Given the description of an element on the screen output the (x, y) to click on. 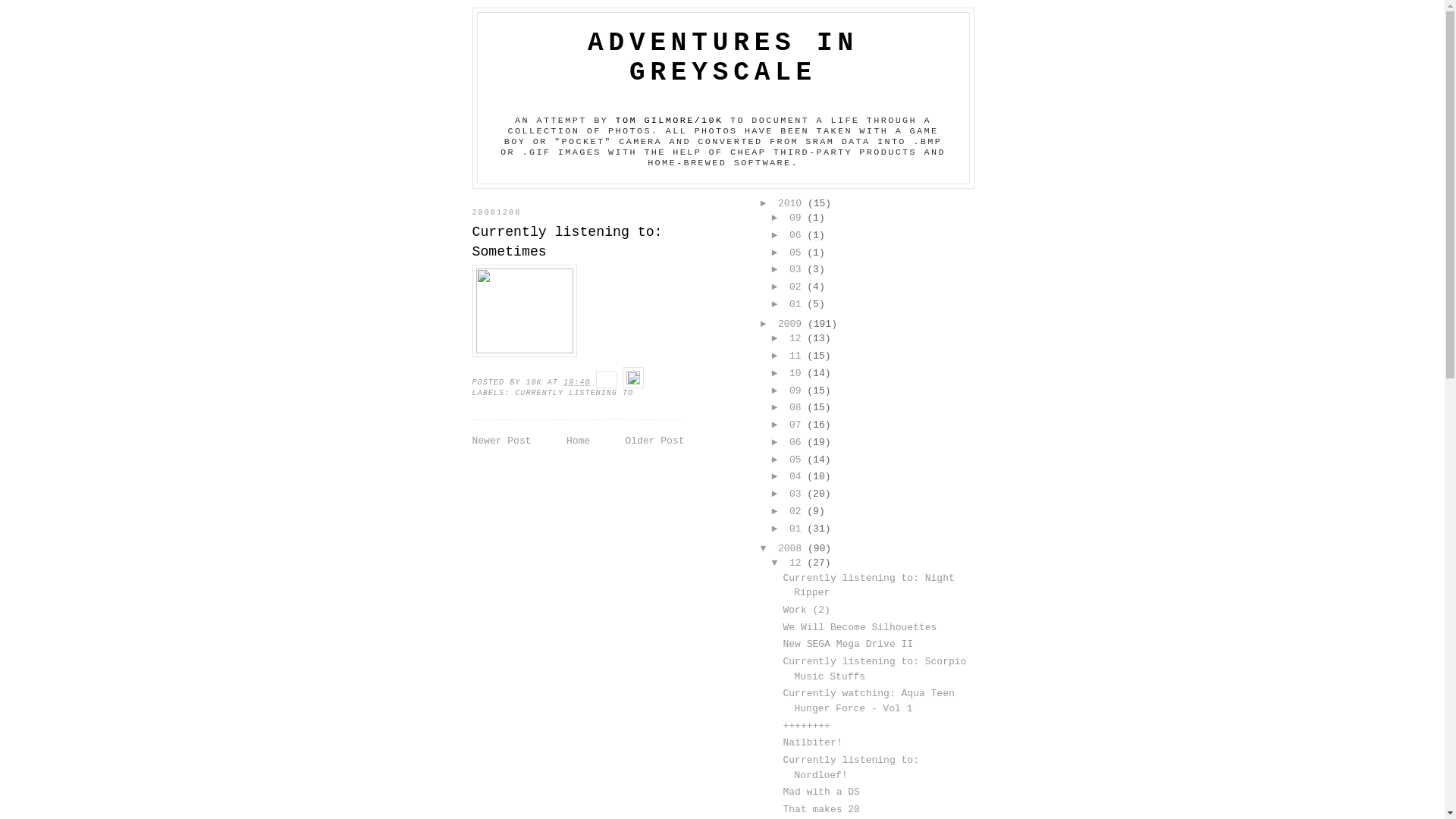
07 Element type: text (797, 424)
CURRENTLY LISTENING TO Element type: text (573, 393)
02 Element type: text (797, 511)
19:40 Element type: text (576, 382)
Nailbiter! Element type: text (811, 742)
That makes 20 Element type: text (820, 809)
02 Element type: text (797, 286)
++++++++ Element type: text (805, 725)
Email Post Element type: hover (609, 382)
12 Element type: text (797, 338)
10K Element type: text (535, 382)
09 Element type: text (797, 390)
06 Element type: text (797, 442)
Work (2) Element type: text (805, 609)
01 Element type: text (797, 528)
03 Element type: text (797, 269)
Currently listening to: Scorpio Music Stuffs Element type: text (874, 668)
Currently listening to: Nordloef! Element type: text (850, 767)
2009 Element type: text (792, 323)
2010 Element type: text (792, 203)
10 Element type: text (797, 373)
09 Element type: text (797, 217)
Older Post Element type: text (654, 440)
08 Element type: text (797, 407)
05 Element type: text (797, 459)
Newer Post Element type: text (500, 440)
New SEGA Mega Drive II Element type: text (847, 643)
ADVENTURES IN GREYSCALE Element type: text (722, 57)
12 Element type: text (797, 562)
Edit Post Element type: hover (632, 382)
03 Element type: text (797, 493)
We Will Become Silhouettes Element type: text (859, 627)
2008 Element type: text (792, 548)
01 Element type: text (797, 304)
05 Element type: text (797, 252)
Currently watching: Aqua Teen Hunger Force - Vol 1 Element type: text (867, 700)
04 Element type: text (797, 476)
11 Element type: text (797, 355)
Home Element type: text (577, 440)
Currently listening to: Night Ripper Element type: text (867, 585)
TOM GILMORE/10K Element type: text (669, 120)
Mad with a DS Element type: text (820, 791)
06 Element type: text (797, 235)
